Given the description of an element on the screen output the (x, y) to click on. 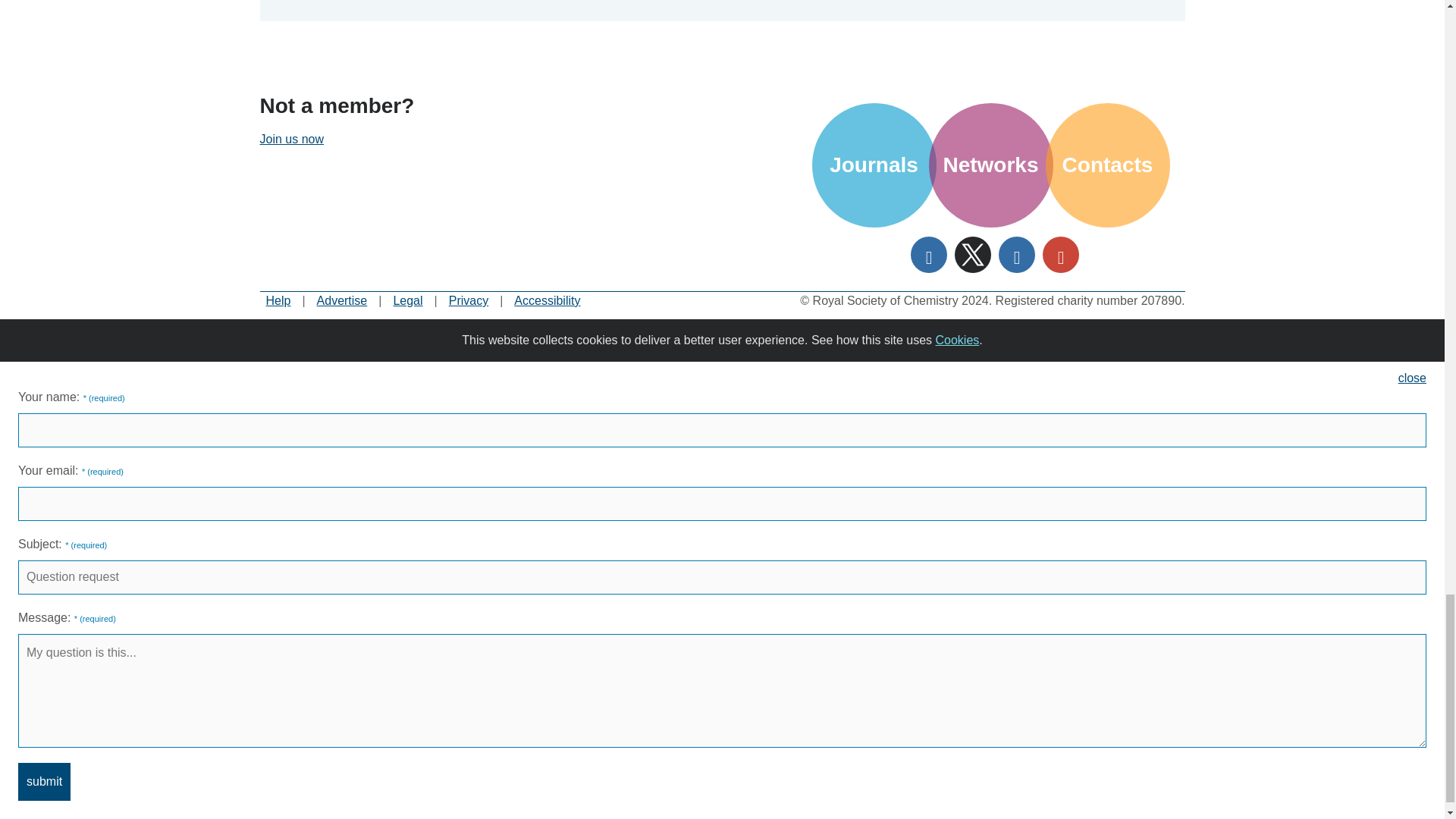
Join us now (291, 138)
Frequently asked questions (276, 300)
submit (43, 781)
Accessibility statement (546, 300)
